Given the description of an element on the screen output the (x, y) to click on. 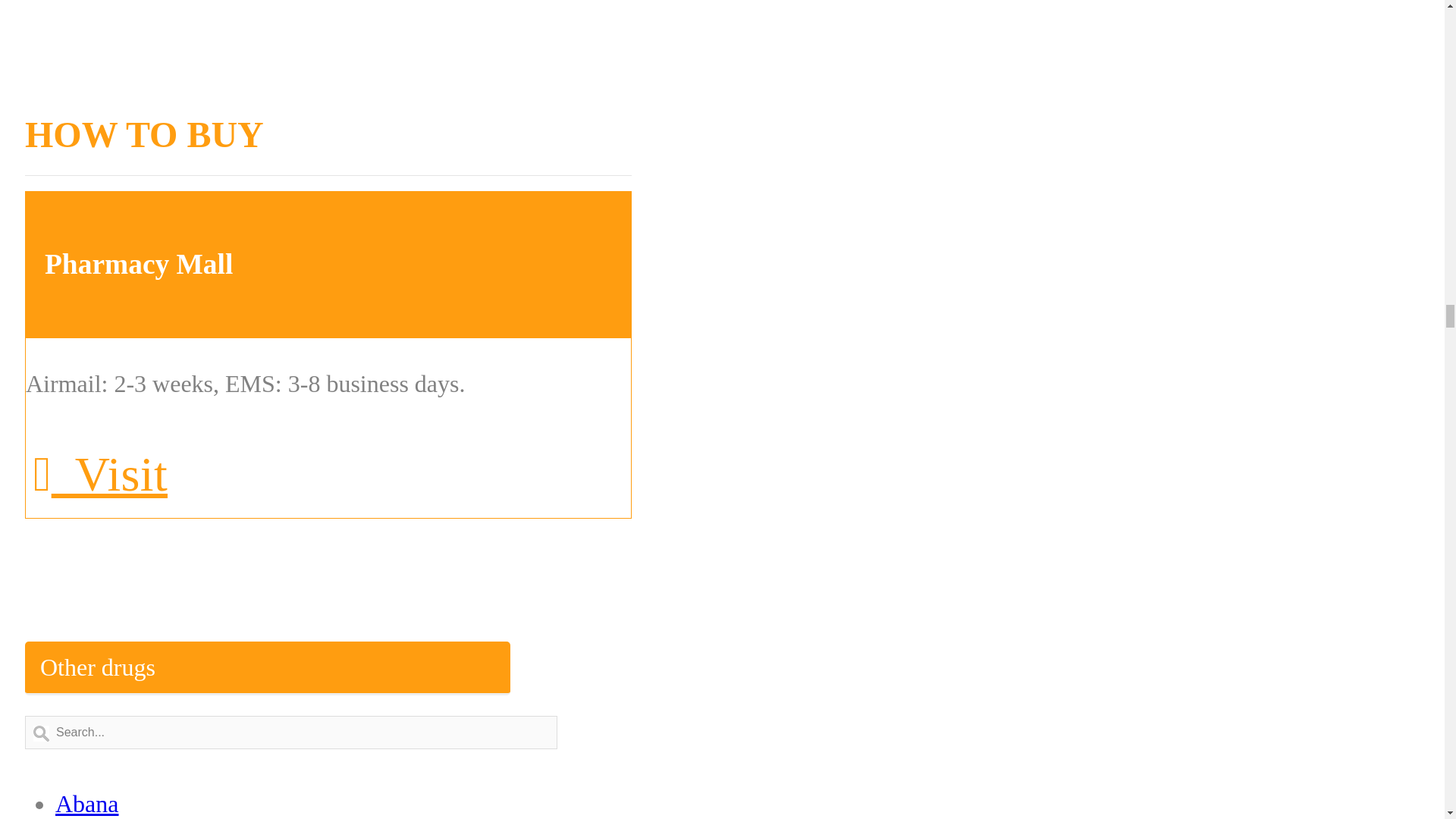
Abana (87, 803)
Visit (100, 473)
